Given the description of an element on the screen output the (x, y) to click on. 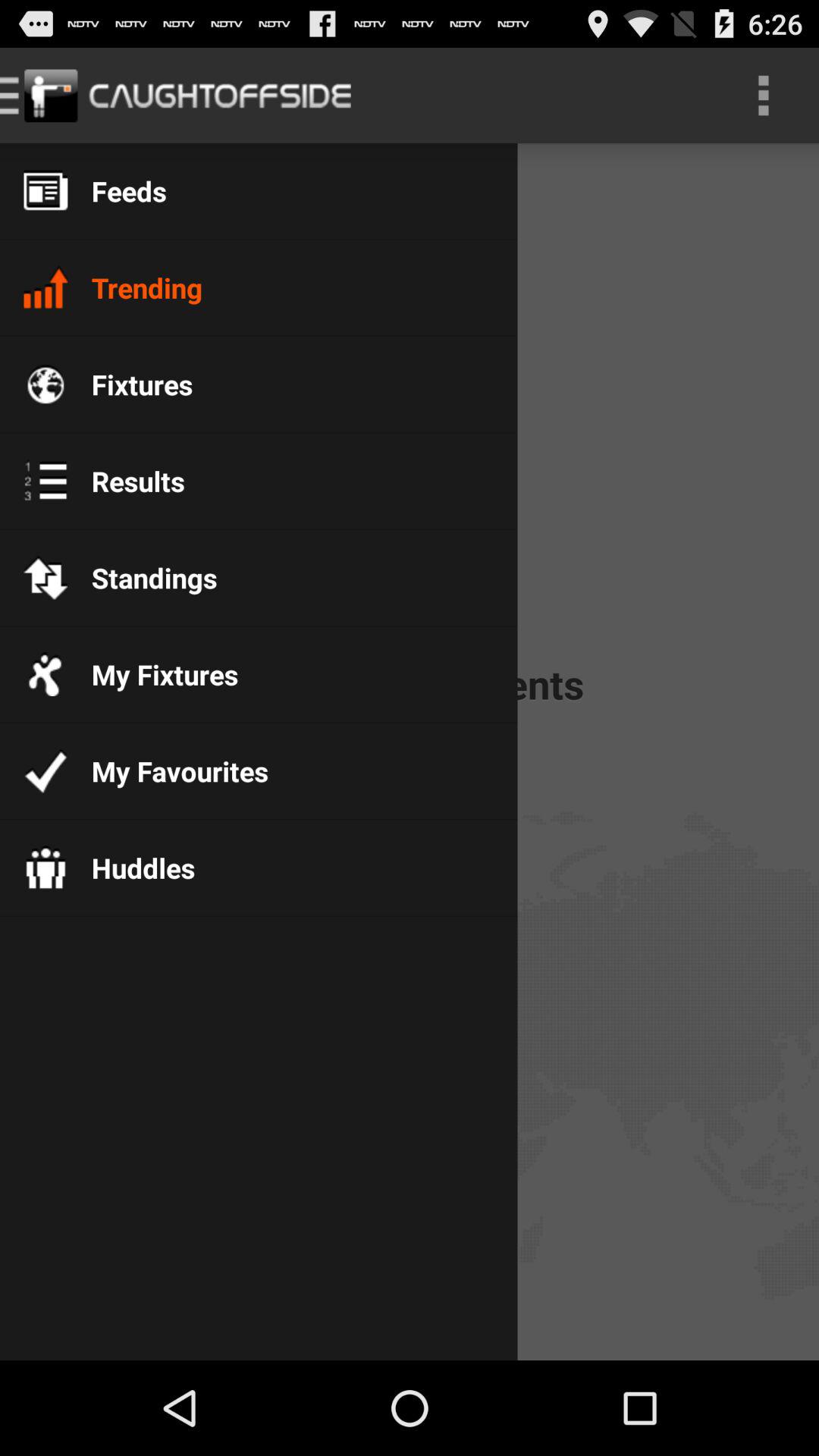
swipe until the my fixtures item (152, 674)
